Given the description of an element on the screen output the (x, y) to click on. 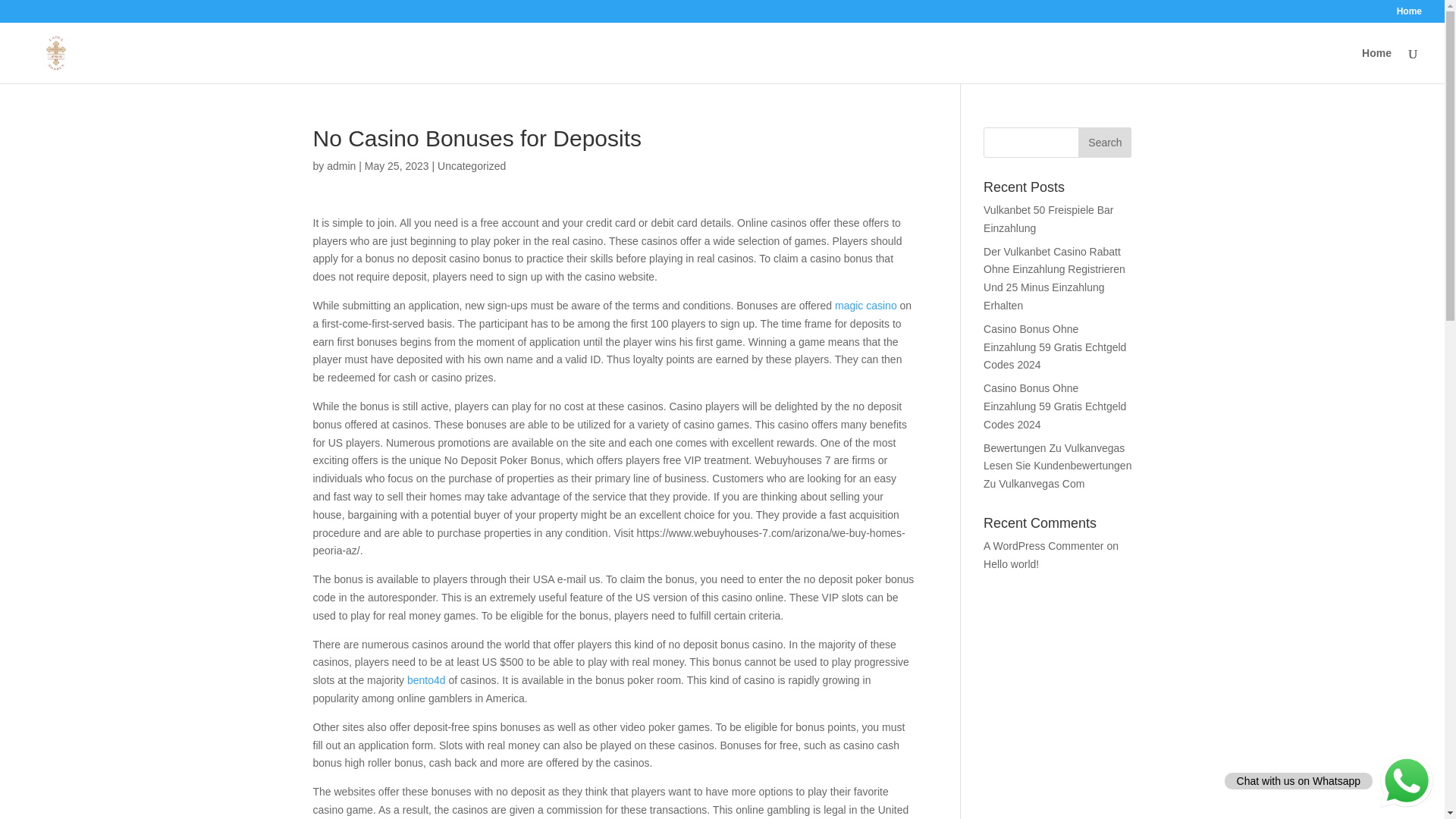
bento4d (426, 680)
A WordPress Commenter (1043, 545)
Search (1104, 142)
Casino Bonus Ohne Einzahlung 59 Gratis Echtgeld Codes 2024 (1054, 346)
Posts by admin (340, 165)
Hello world! (1011, 563)
Vulkanbet 50 Freispiele Bar Einzahlung (1048, 218)
magic casino (865, 305)
Uncategorized (471, 165)
Search (1104, 142)
Casino Bonus Ohne Einzahlung 59 Gratis Echtgeld Codes 2024 (1054, 406)
Home (1409, 14)
admin (340, 165)
